Given the description of an element on the screen output the (x, y) to click on. 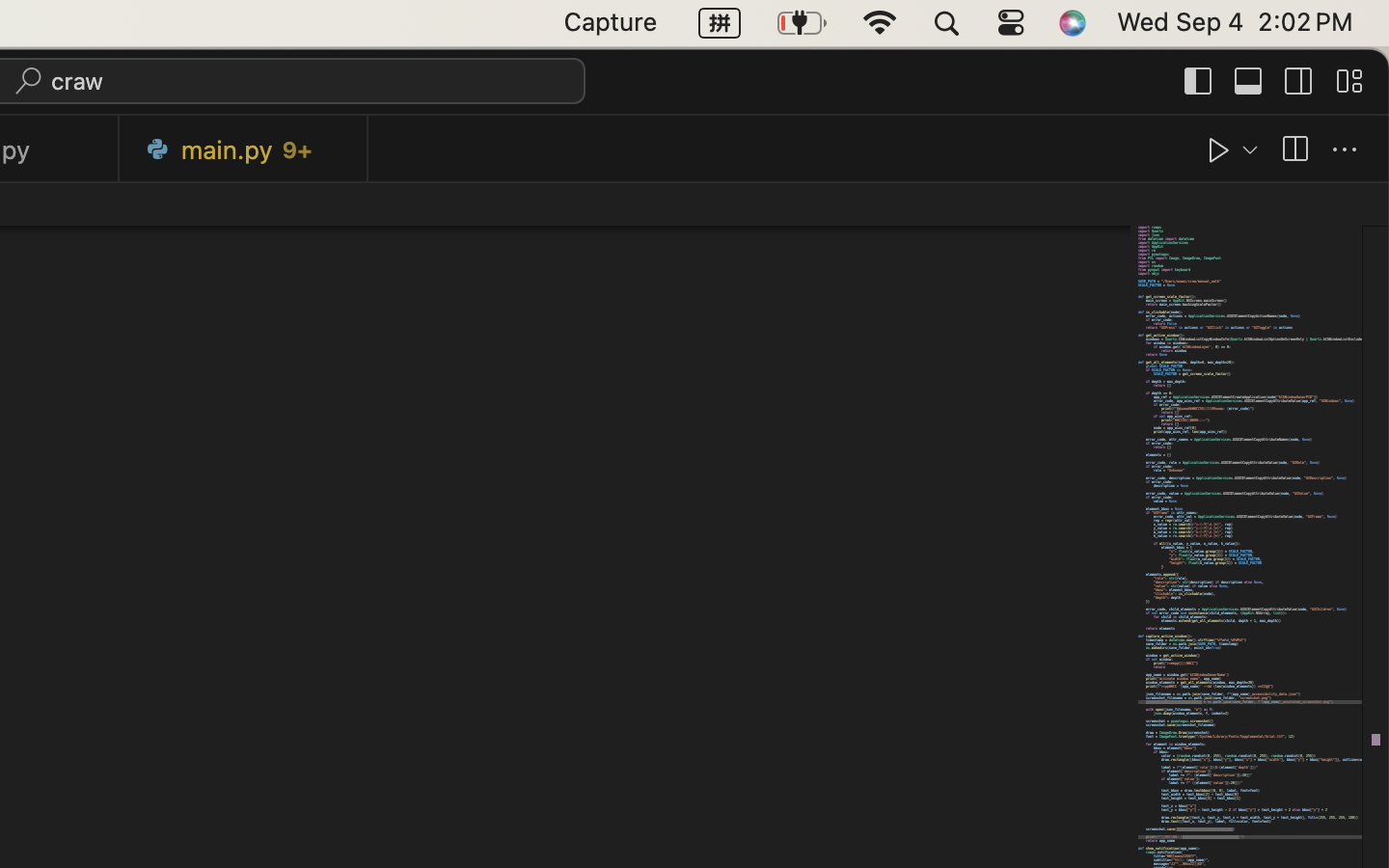
 Element type: AXStaticText (1344, 150)
 Element type: AXButton (1294, 150)
craw Element type: AXStaticText (78, 80)
0 main.py   9+ Element type: AXRadioButton (243, 149)
